Given the description of an element on the screen output the (x, y) to click on. 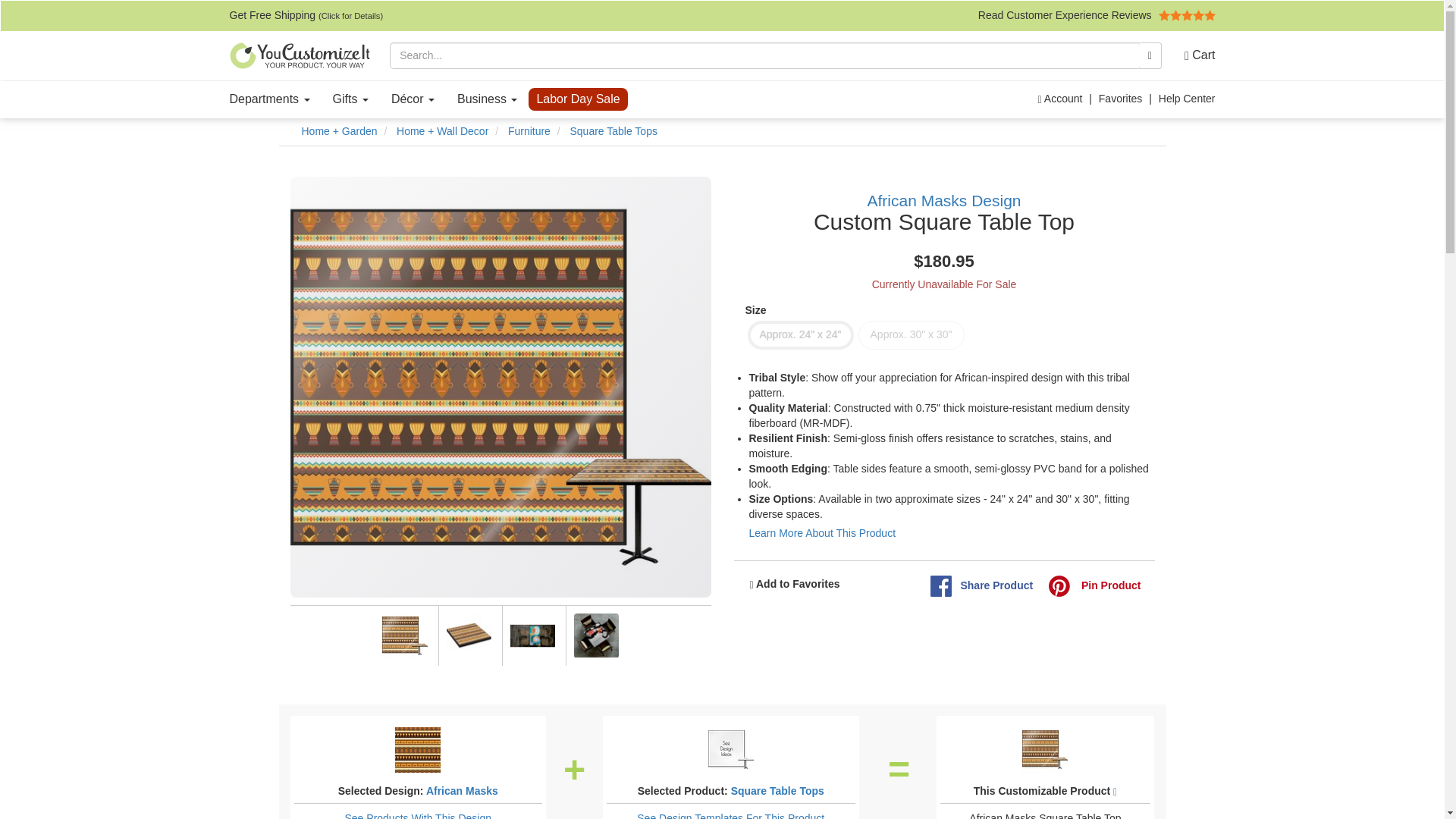
Read Customer Experience Reviews (1096, 15)
Cart (1194, 55)
Gifts (350, 99)
Learn More About This Product (822, 532)
Business (486, 99)
Departments (269, 99)
